Given the description of an element on the screen output the (x, y) to click on. 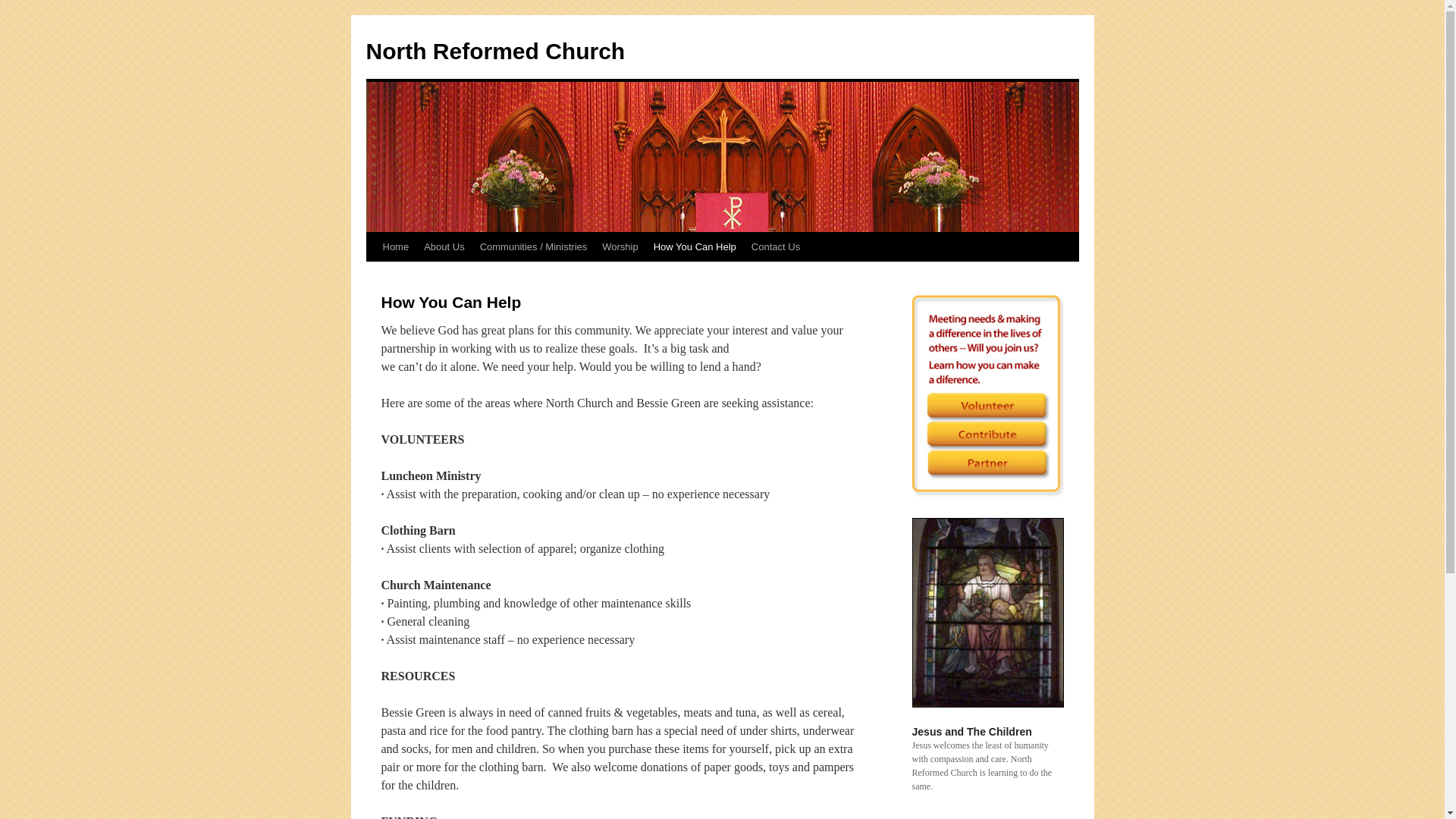
Worship (619, 246)
Home (395, 246)
How You Can Help (695, 246)
Contact Us (776, 246)
North Reformed Church (494, 50)
About Us (443, 246)
